Given the description of an element on the screen output the (x, y) to click on. 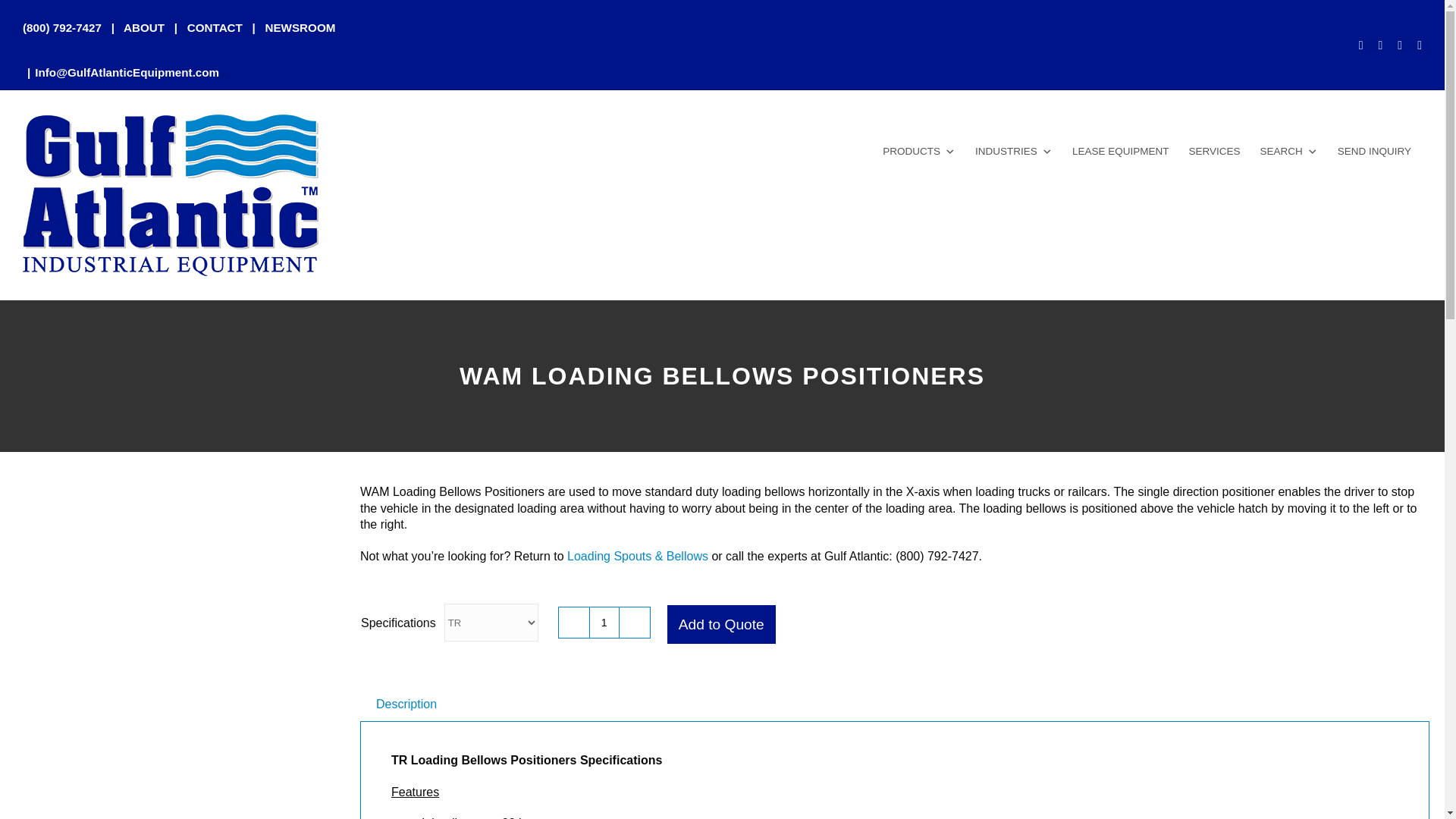
CONTACT (215, 27)
NEWSROOM (299, 27)
1 (604, 622)
ABOUT (143, 27)
PRODUCTS (918, 151)
